Given the description of an element on the screen output the (x, y) to click on. 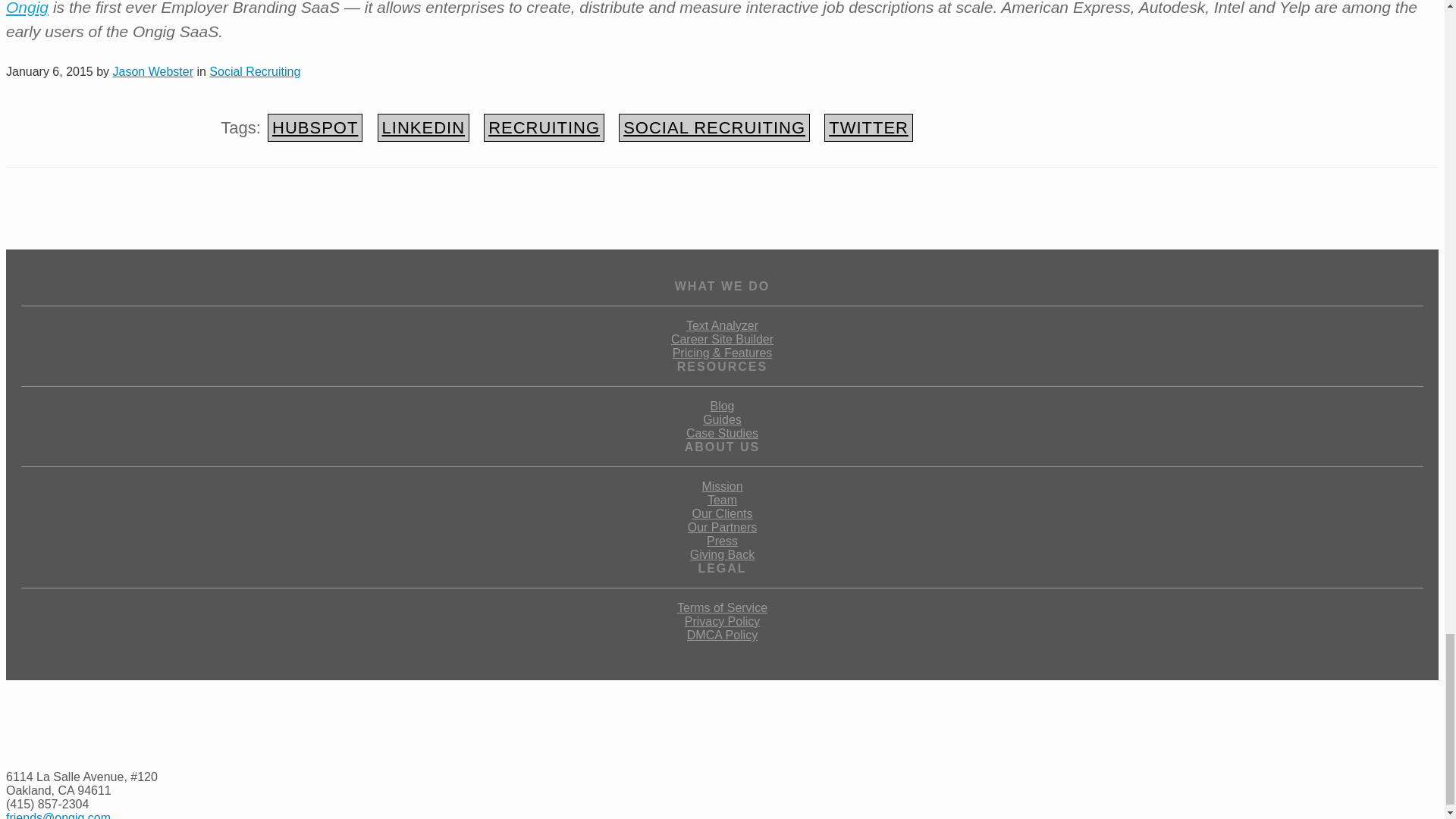
LINKEDIN (422, 127)
SOCIAL RECRUITING (713, 127)
Jason Webster (153, 71)
TWITTER (868, 127)
Posts by Jason Webster (153, 71)
RECRUITING (543, 127)
Ongig (26, 7)
Social Recruiting (254, 71)
Text Analyzer (721, 325)
HUBSPOT (314, 127)
